Given the description of an element on the screen output the (x, y) to click on. 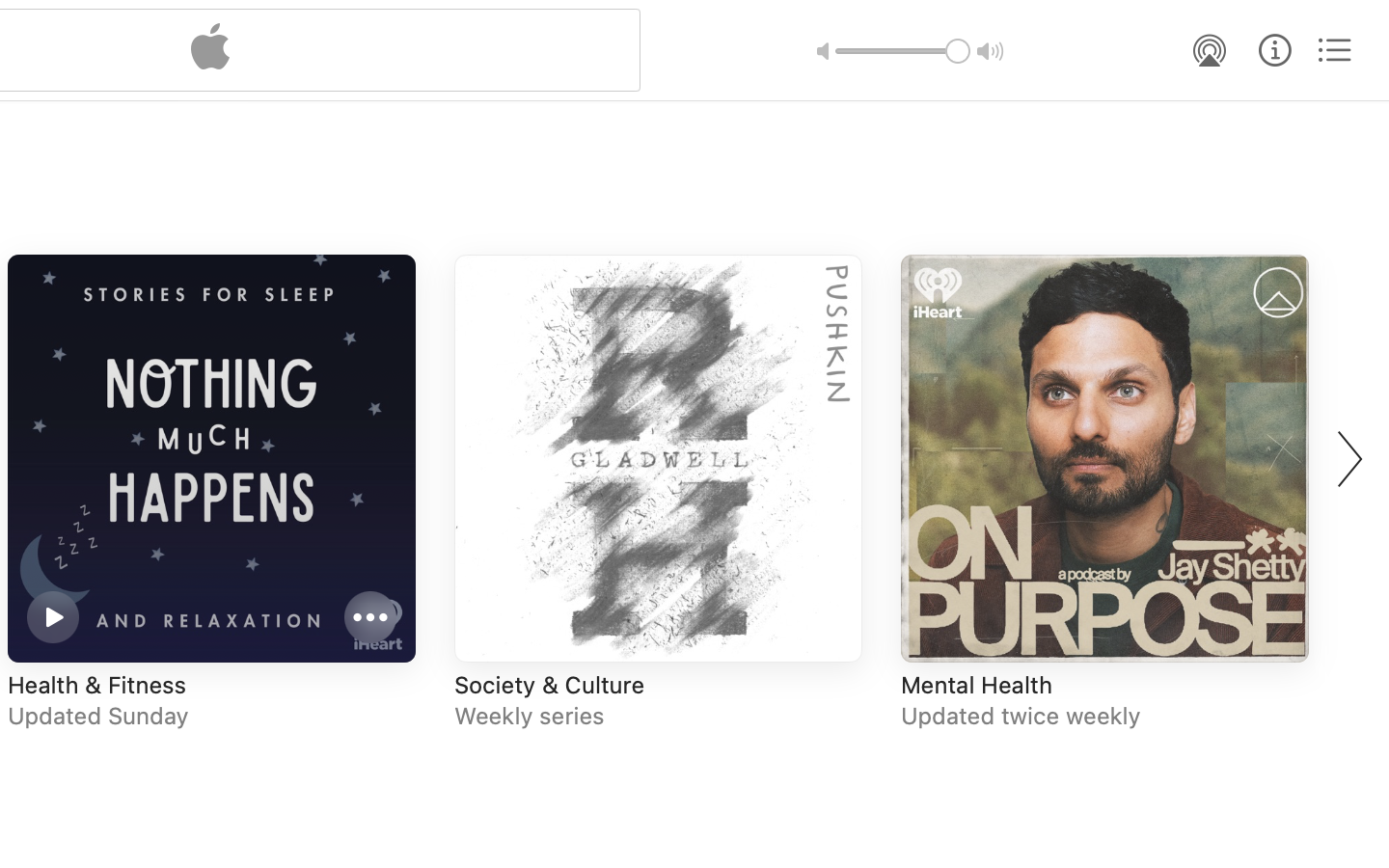
1.0 Element type: AXSlider (902, 50)
